Given the description of an element on the screen output the (x, y) to click on. 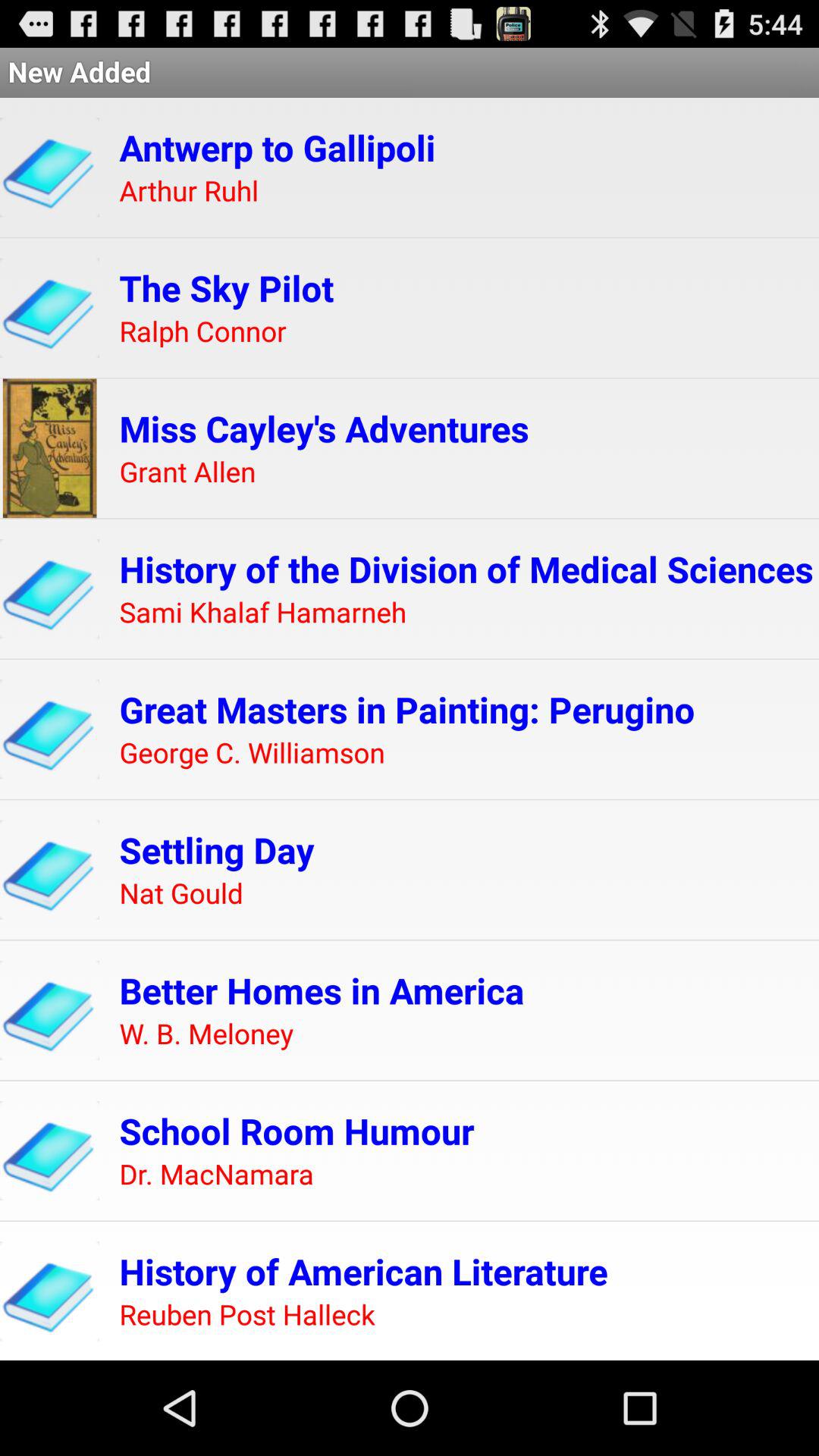
select the app below the history of american icon (247, 1315)
